Given the description of an element on the screen output the (x, y) to click on. 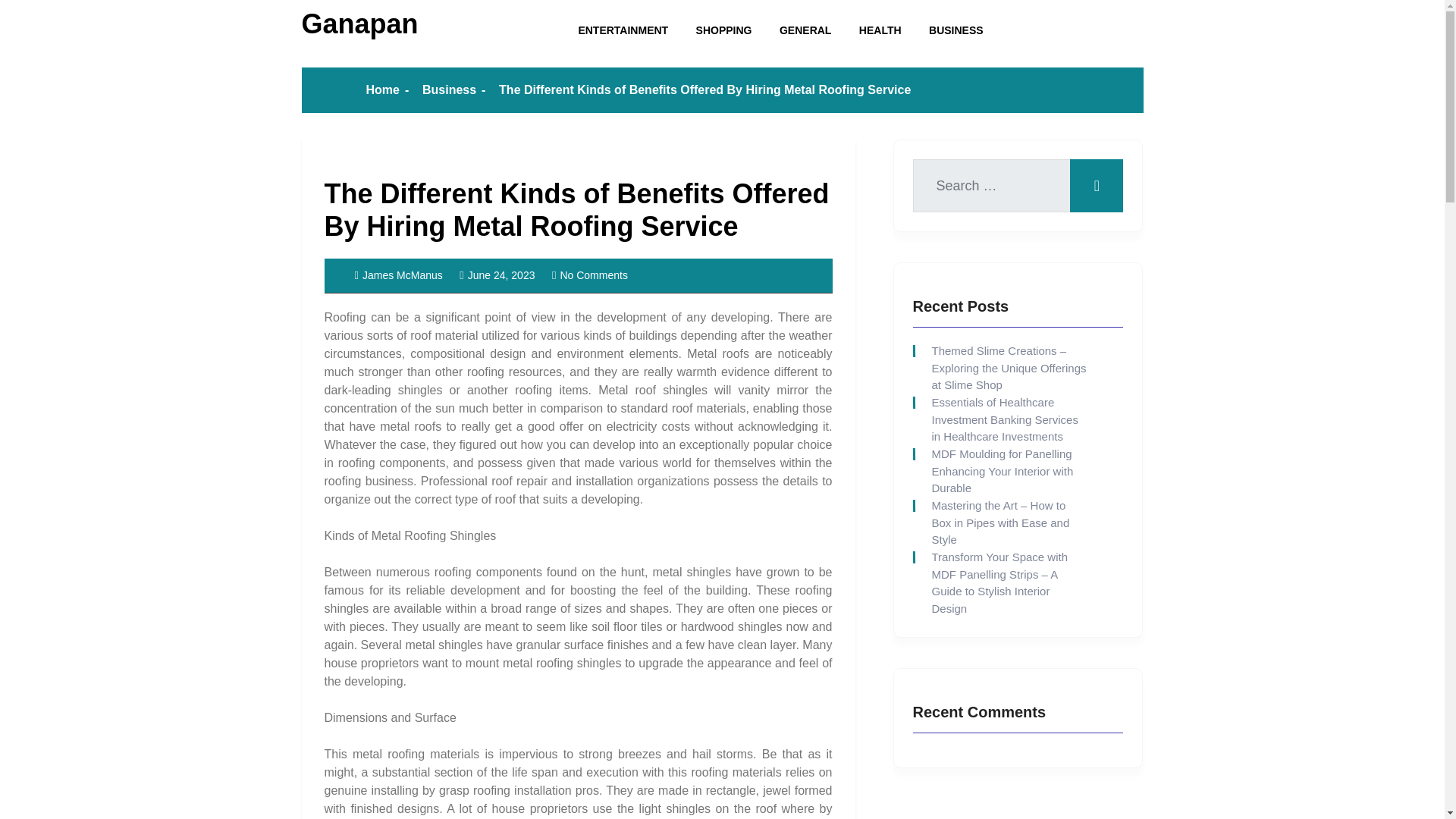
Business (449, 90)
HEALTH (880, 30)
GENERAL (805, 30)
BUSINESS (956, 30)
ENTERTAINMENT (622, 30)
June 24, 2023 (497, 275)
Ganapan (360, 23)
